Given the description of an element on the screen output the (x, y) to click on. 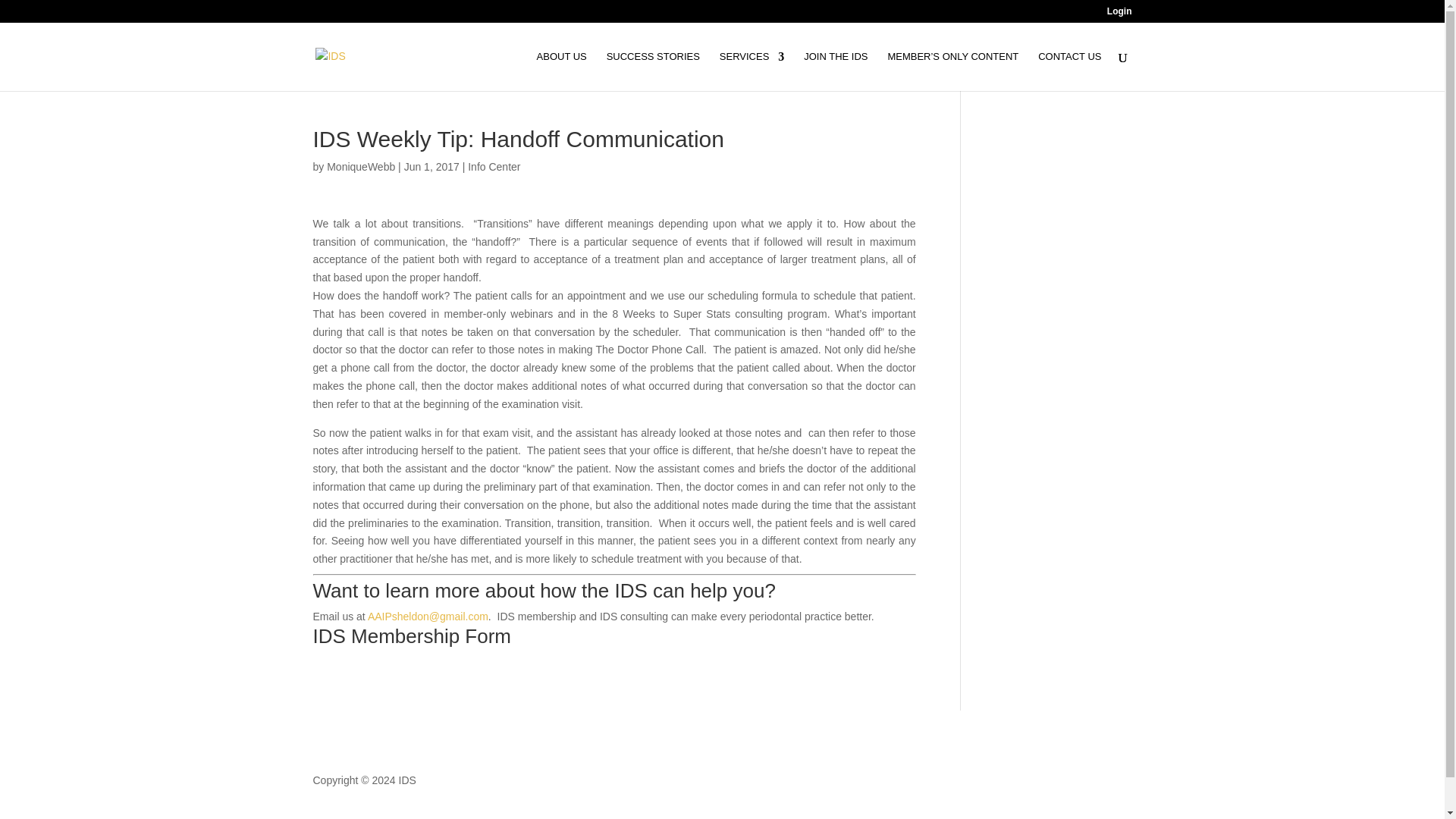
Posts by MoniqueWebb (360, 166)
Login (1119, 14)
JOIN THE IDS (835, 70)
SERVICES (751, 70)
SUCCESS STORIES (653, 70)
IDS Membership Form (412, 635)
CONTACT US (1069, 70)
Info Center (493, 166)
MoniqueWebb (360, 166)
ABOUT US (561, 70)
